Given the description of an element on the screen output the (x, y) to click on. 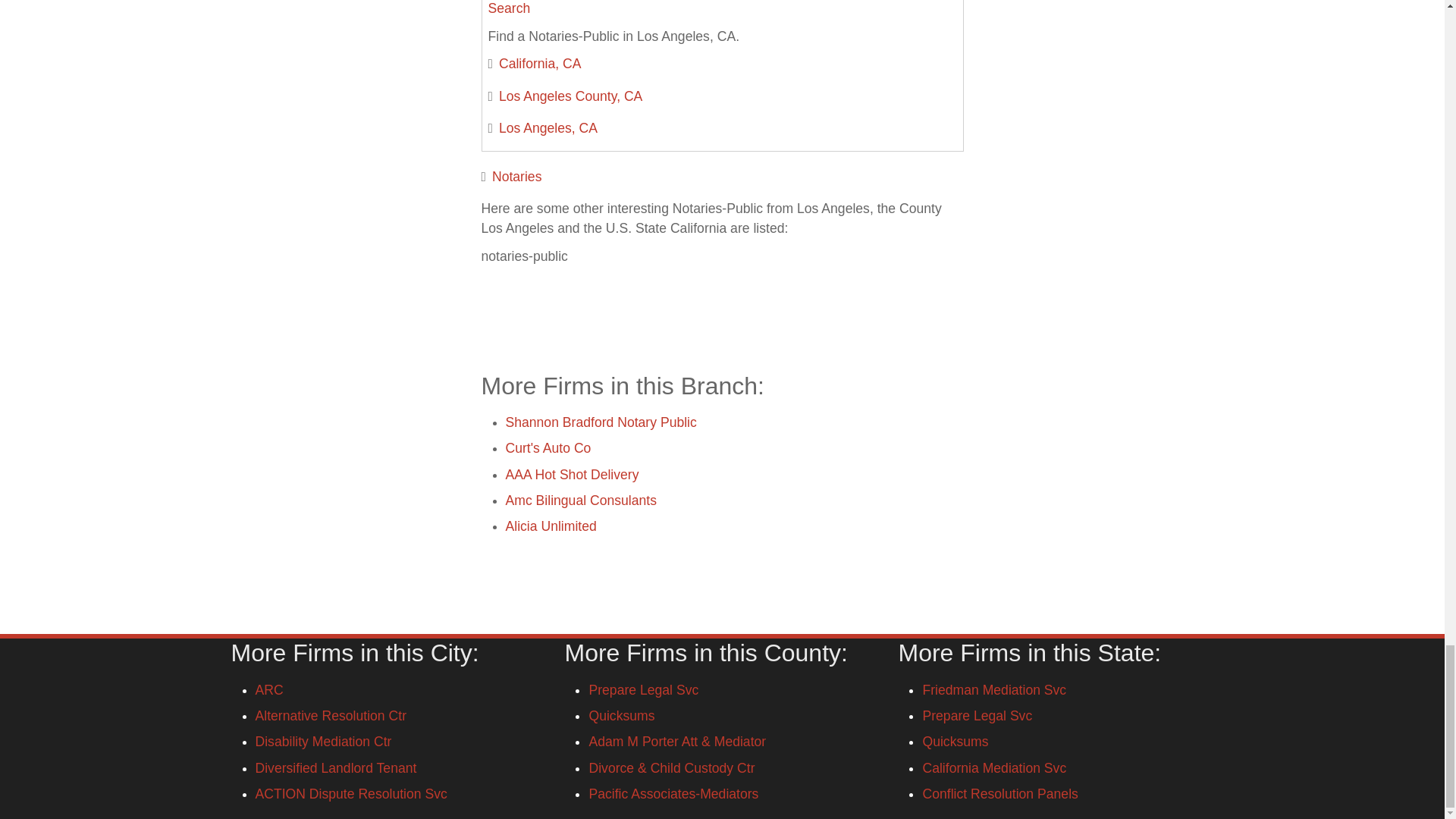
Curt's Auto Co (548, 447)
Los Angeles County, CA (570, 96)
Amc Bilingual Consulants (580, 500)
Shannon Bradford Notary Public (600, 421)
Los Angeles, CA (547, 127)
Search (509, 7)
California, CA (539, 63)
AAA Hot Shot Delivery (572, 474)
Notaries (516, 176)
Alicia Unlimited (550, 525)
